Given the description of an element on the screen output the (x, y) to click on. 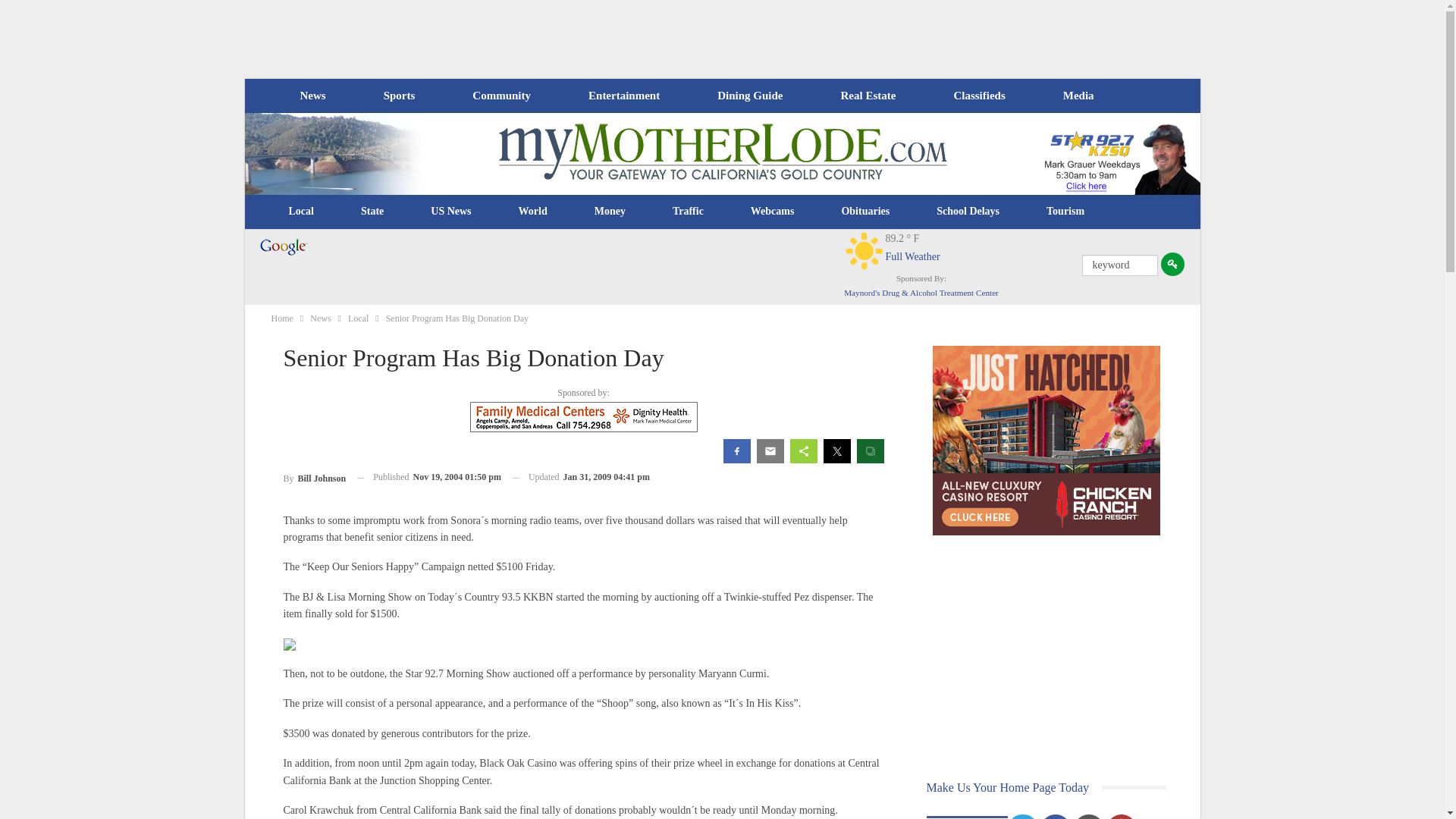
Local (300, 211)
Browse Author Articles (314, 476)
Media (1078, 95)
Classifieds (979, 95)
Webcams (772, 211)
Tourism (1065, 211)
Sports (399, 95)
School Delays (967, 211)
Entertainment (624, 95)
Traffic (687, 211)
Dining Guide (749, 95)
Clear (864, 250)
